Given the description of an element on the screen output the (x, y) to click on. 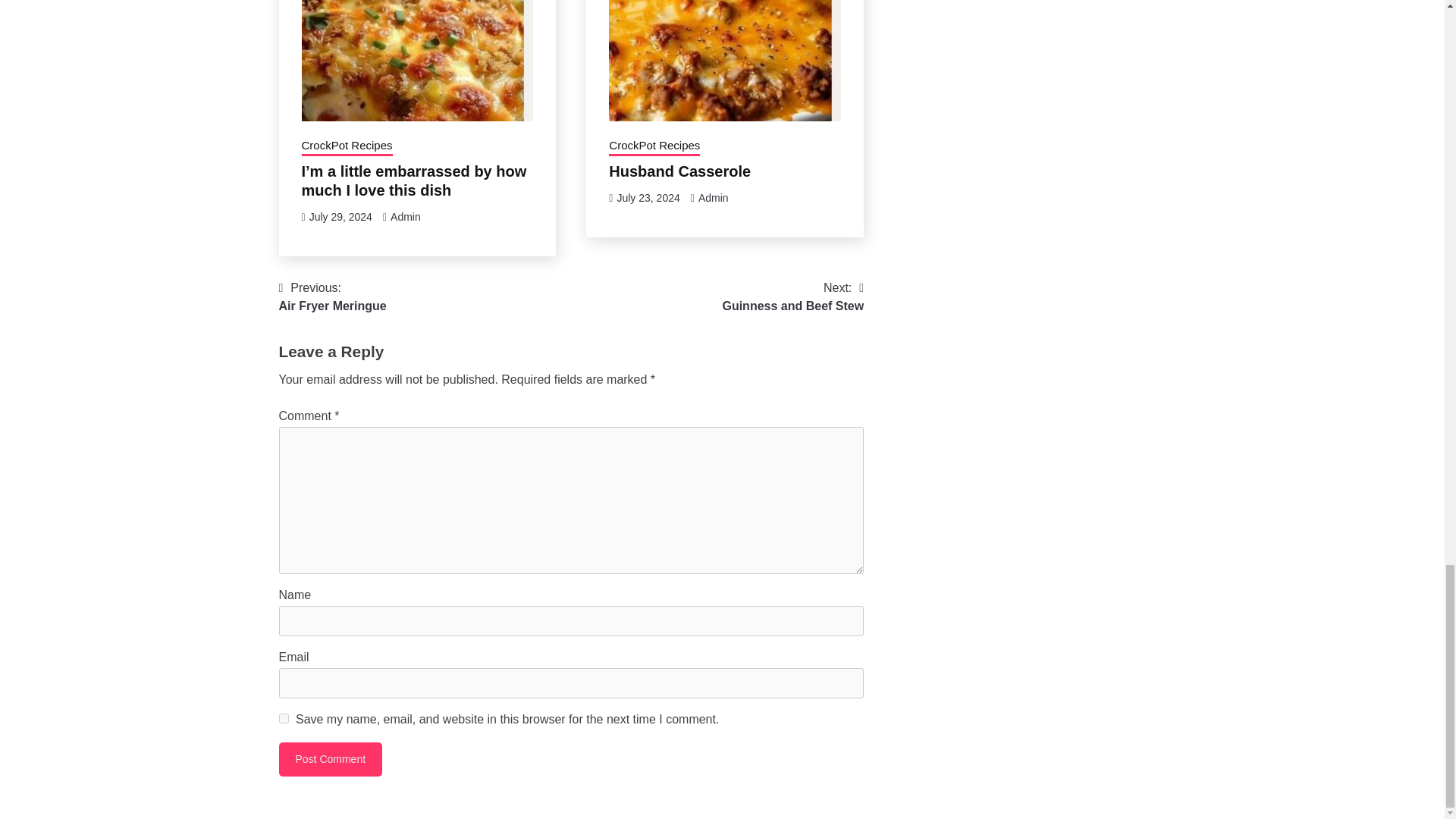
Admin (405, 216)
Post Comment (330, 759)
Husband Casserole (679, 170)
Post Comment (792, 297)
yes (330, 759)
CrockPot Recipes (283, 718)
July 23, 2024 (654, 147)
July 29, 2024 (647, 197)
Admin (340, 216)
CrockPot Recipes (713, 197)
